Given the description of an element on the screen output the (x, y) to click on. 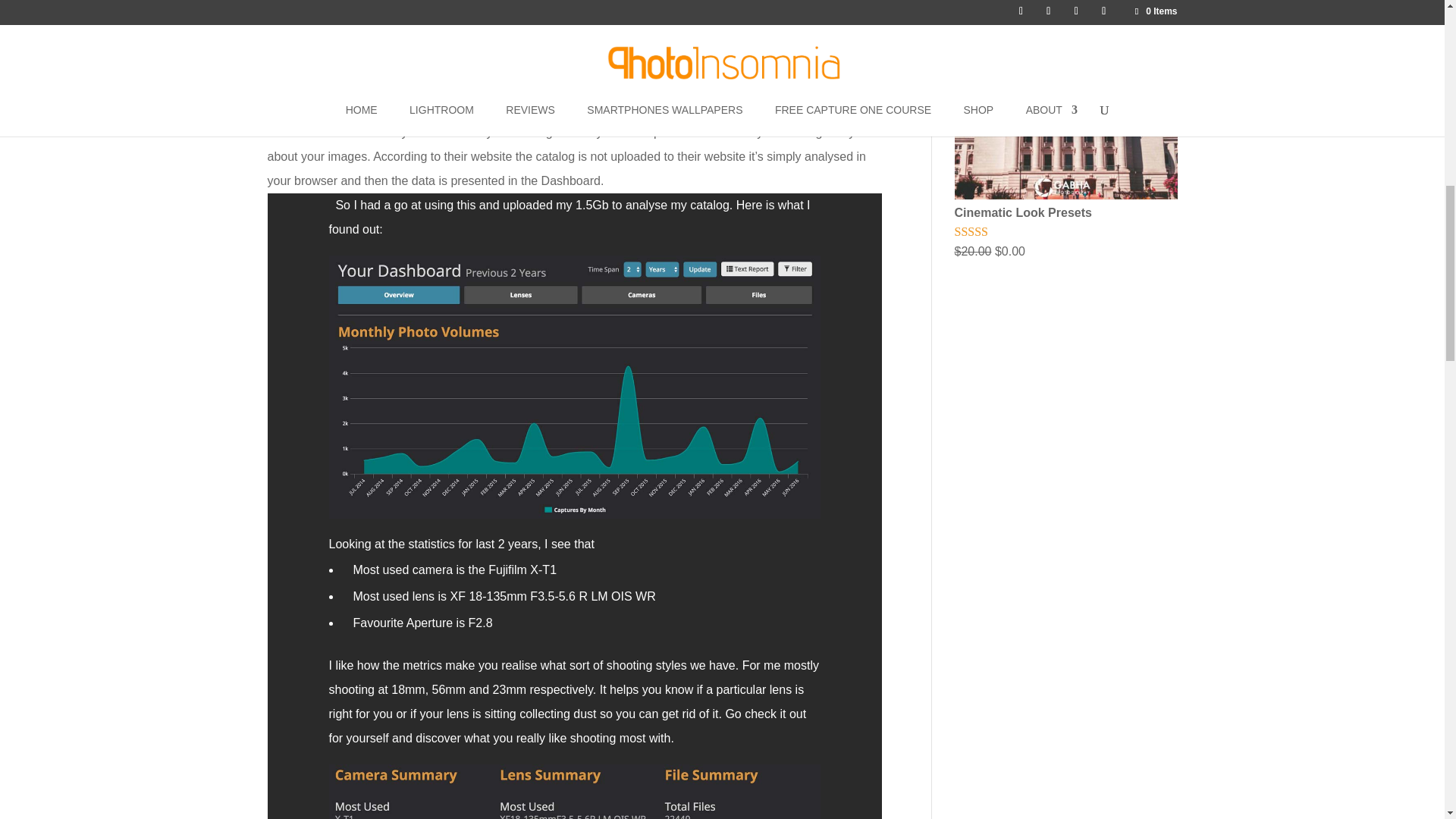
Lightroom Dashboard (360, 95)
Lightroom Analytics (593, 47)
Lightroom Catalog - 2 Years (575, 517)
